Given the description of an element on the screen output the (x, y) to click on. 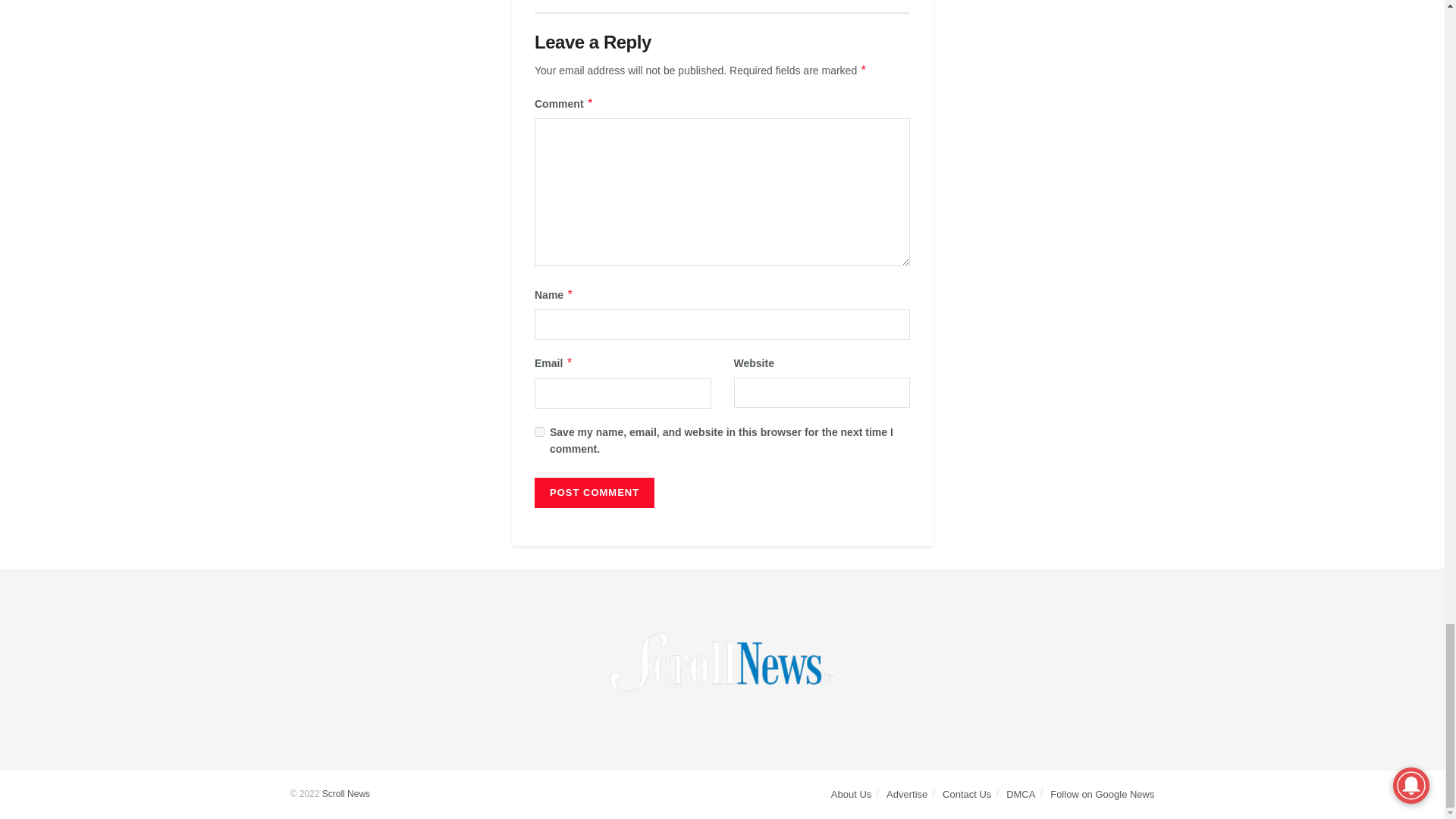
Post Comment (593, 492)
Scroll News (345, 793)
yes (539, 431)
